Given the description of an element on the screen output the (x, y) to click on. 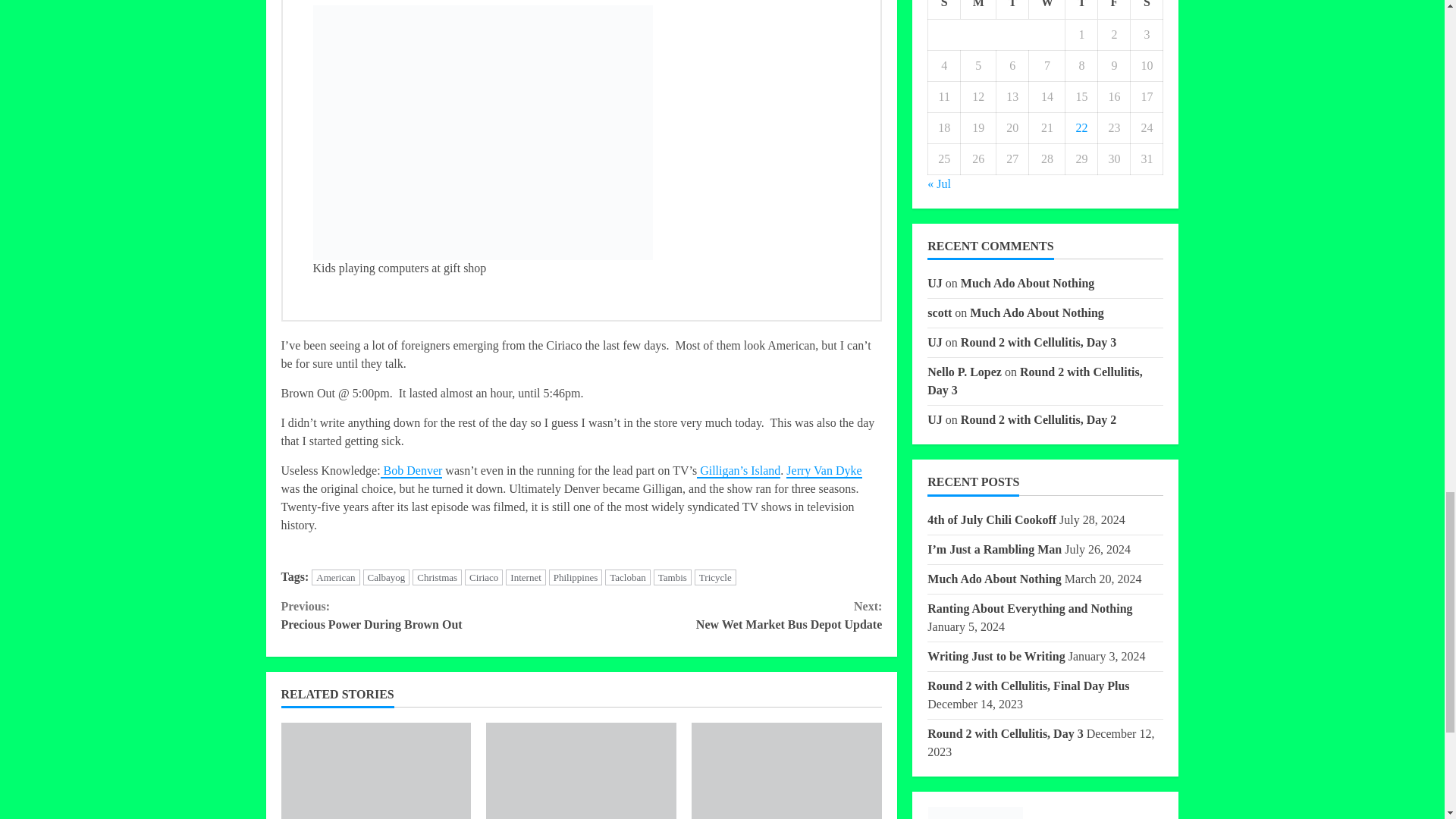
Jerry Van Dyke Bio (823, 471)
Bob Denver Bio (411, 471)
Kids playing computers at gift shop (482, 132)
Gilligan's Island (738, 471)
